Given the description of an element on the screen output the (x, y) to click on. 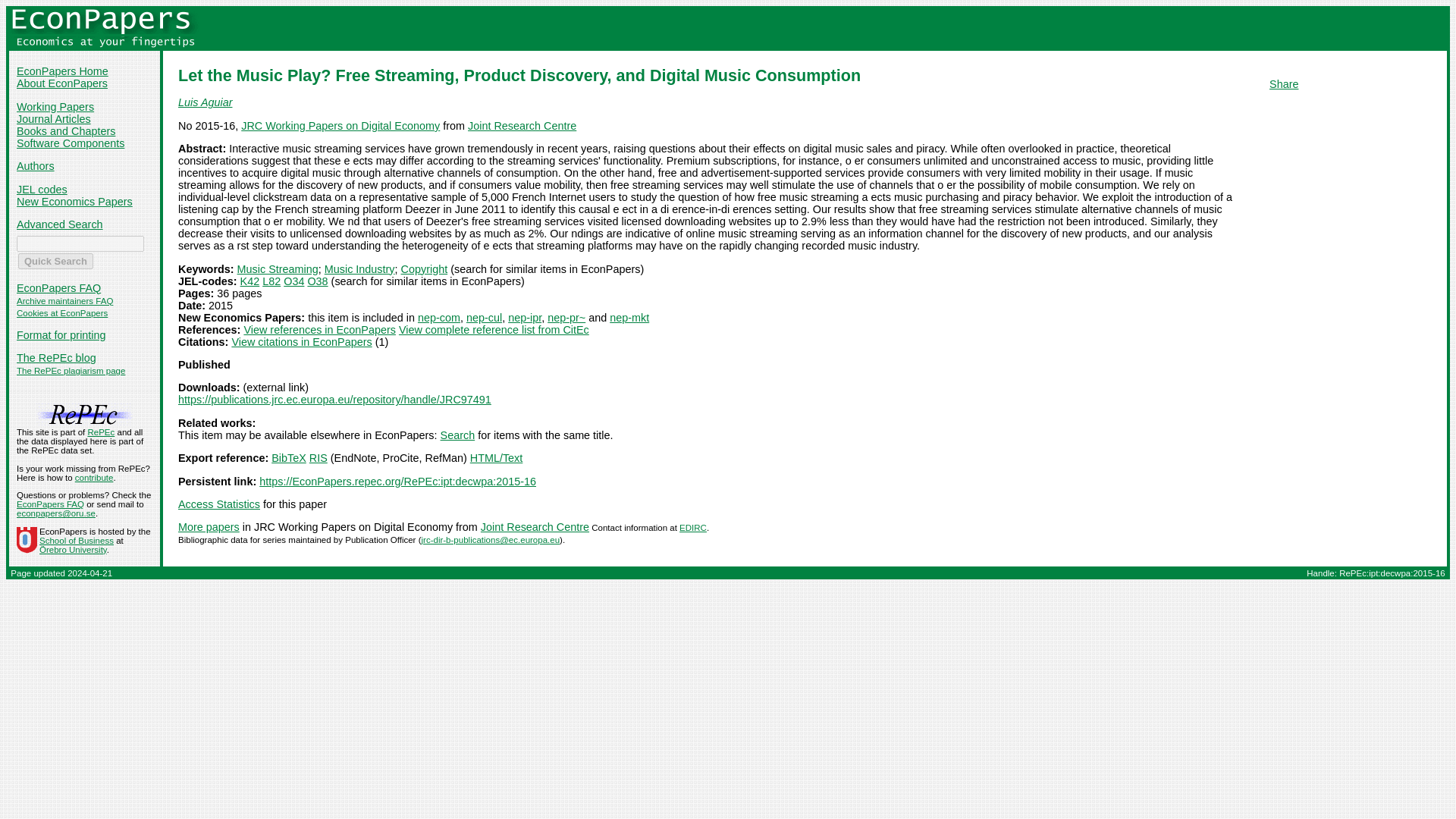
Working Papers (55, 106)
The RePEc plagiarism page (70, 370)
JRC Working Papers on Digital Economy (340, 125)
New Economics Papers (74, 201)
O34 (293, 281)
EconPapers FAQ (58, 287)
K42 (250, 281)
Music Industry (359, 268)
View references in EconPapers (319, 329)
Software Components (69, 143)
Format for printing (61, 335)
nep-ipr (524, 317)
Books and Chapters (65, 131)
Journal Articles (53, 119)
L82 (271, 281)
